Given the description of an element on the screen output the (x, y) to click on. 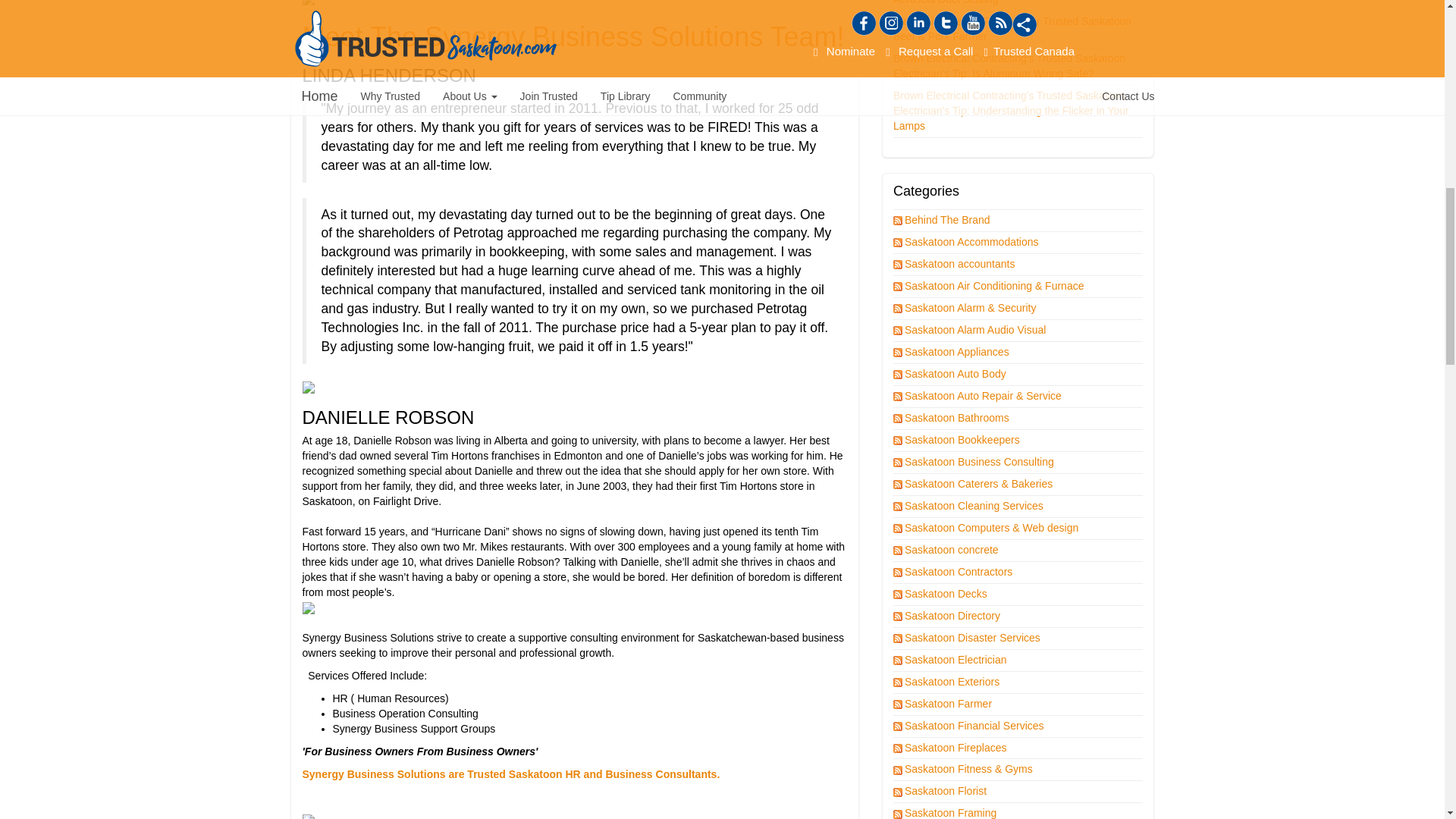
Meet The Synergy Business Solutions Team! (572, 36)
Behind The Brand (948, 219)
Category: Behind The Brand (948, 219)
Category: Saskatoon Accommodations (972, 241)
